Given the description of an element on the screen output the (x, y) to click on. 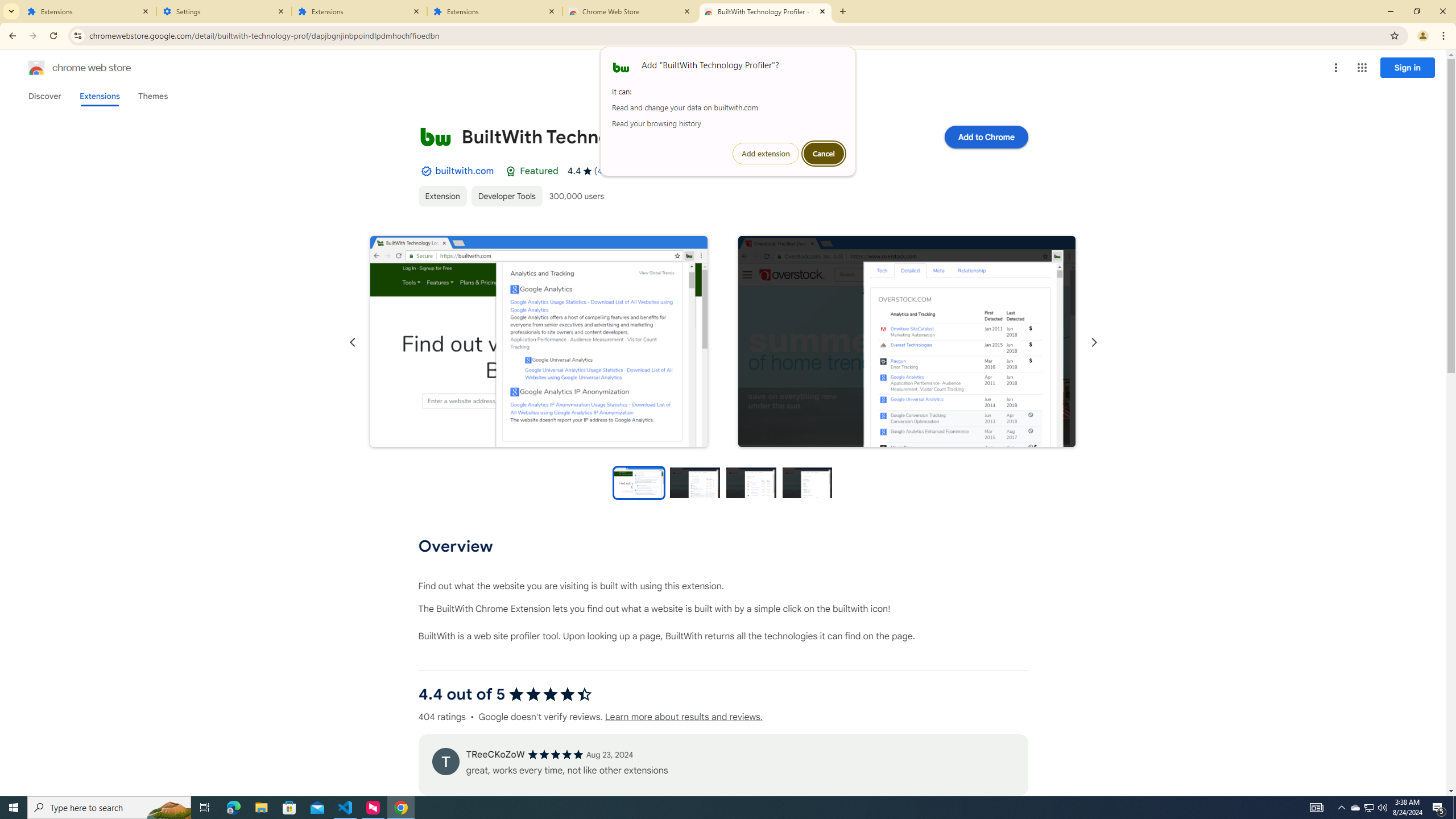
builtwith.com (1368, 807)
Add to Chrome (464, 170)
Item media 2 screenshot (985, 136)
Themes (906, 342)
Item media 1 screenshot (152, 95)
Chrome Web Store (538, 341)
User Promoted Notification Area (1355, 807)
AutomationID: 4105 (630, 11)
4.4 out of 5 stars (1368, 807)
Microsoft Store (1316, 807)
Item logo image for BuiltWith Technology Profiler (549, 693)
